Given the description of an element on the screen output the (x, y) to click on. 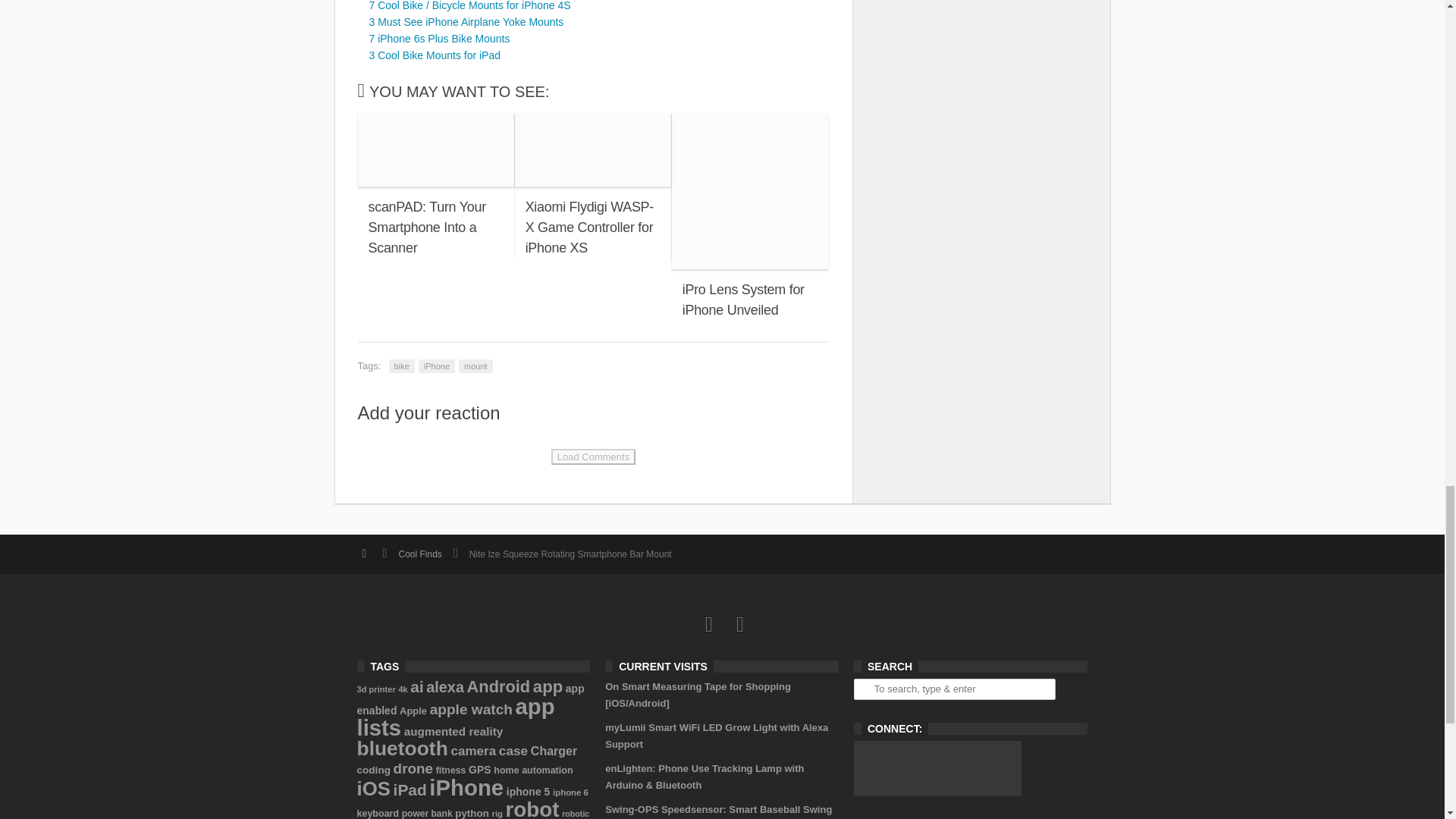
3 Cool Bike Mounts for iPad (434, 55)
7 iPhone 6s Plus Bike Mounts (438, 38)
3 Must See iPhone Airplane Yoke Mounts (465, 21)
